Given the description of an element on the screen output the (x, y) to click on. 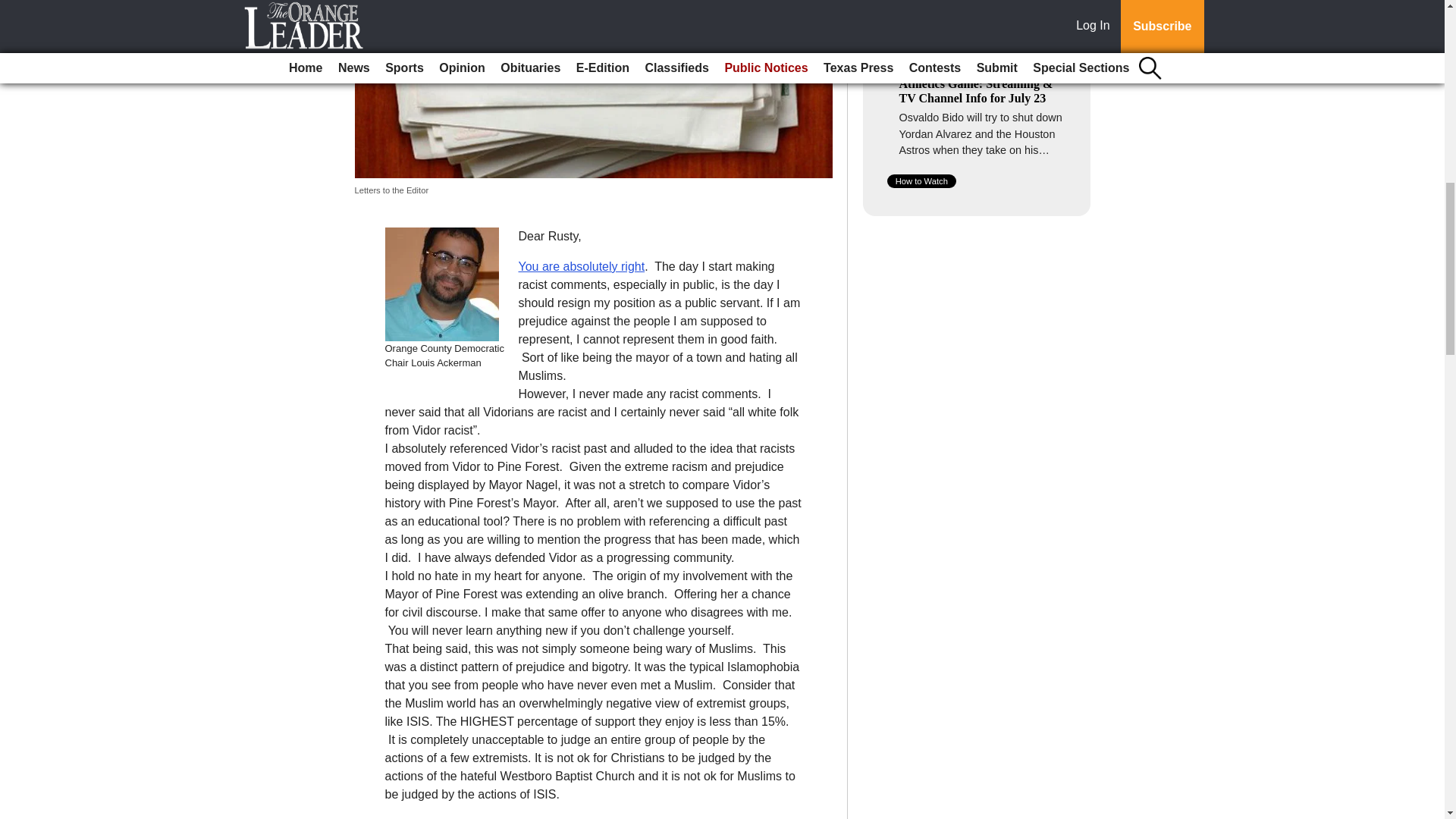
You are absolutely right (581, 266)
